Given the description of an element on the screen output the (x, y) to click on. 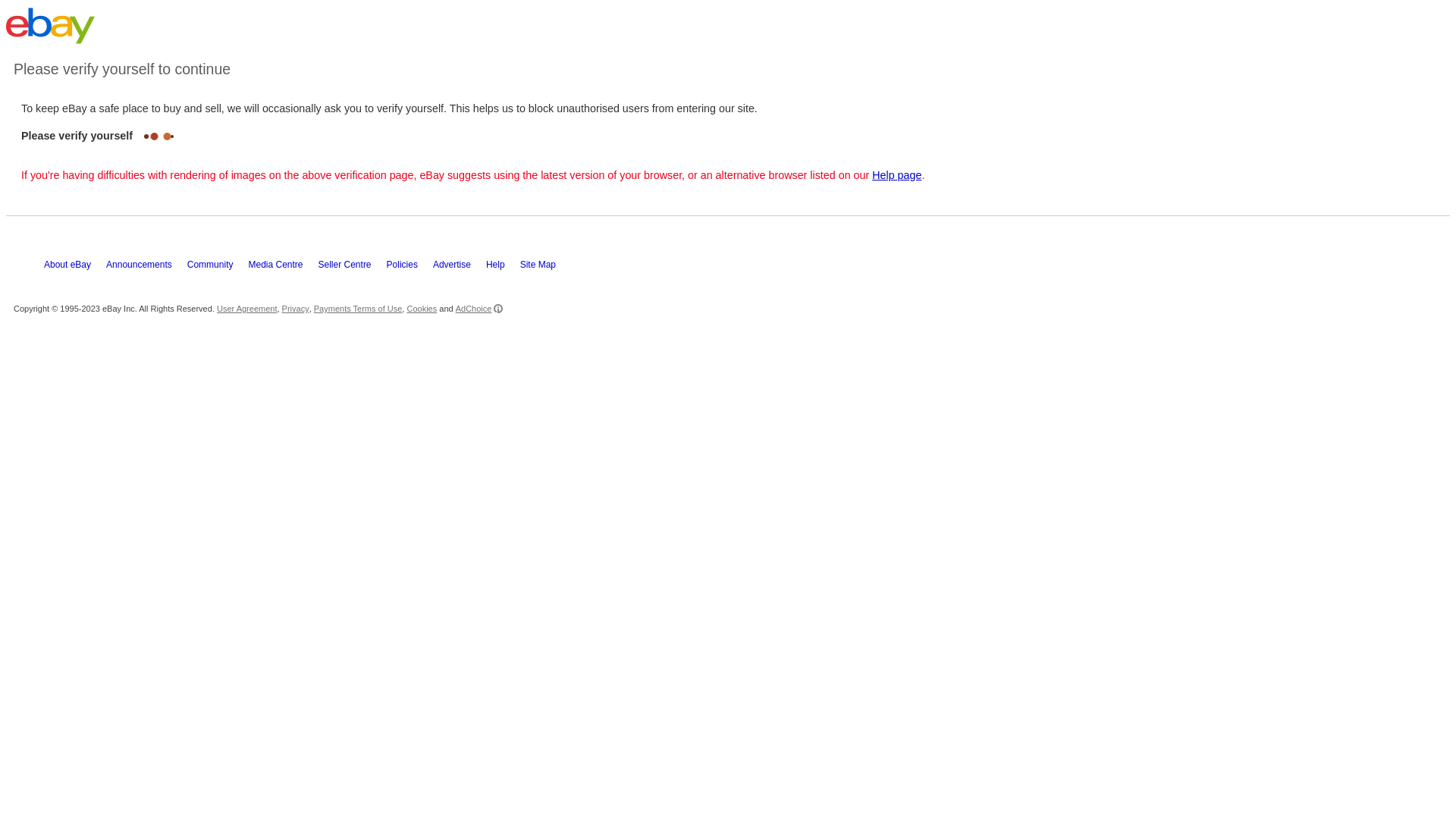
User Agreement Element type: text (246, 308)
Announcements Element type: text (146, 268)
Privacy Element type: text (295, 308)
load bk Element type: hover (6, 52)
Seller Centre Element type: text (352, 268)
Media Centre Element type: text (282, 268)
Policies Element type: text (409, 268)
Help page Element type: text (896, 175)
Payments Terms of Use Element type: text (357, 308)
Community Element type: text (217, 268)
Site Map Element type: text (545, 268)
AdChoice Element type: text (479, 308)
Help Element type: text (503, 268)
Advertise Element type: text (459, 268)
Cookies Element type: text (421, 308)
About eBay Element type: text (74, 268)
